Given the description of an element on the screen output the (x, y) to click on. 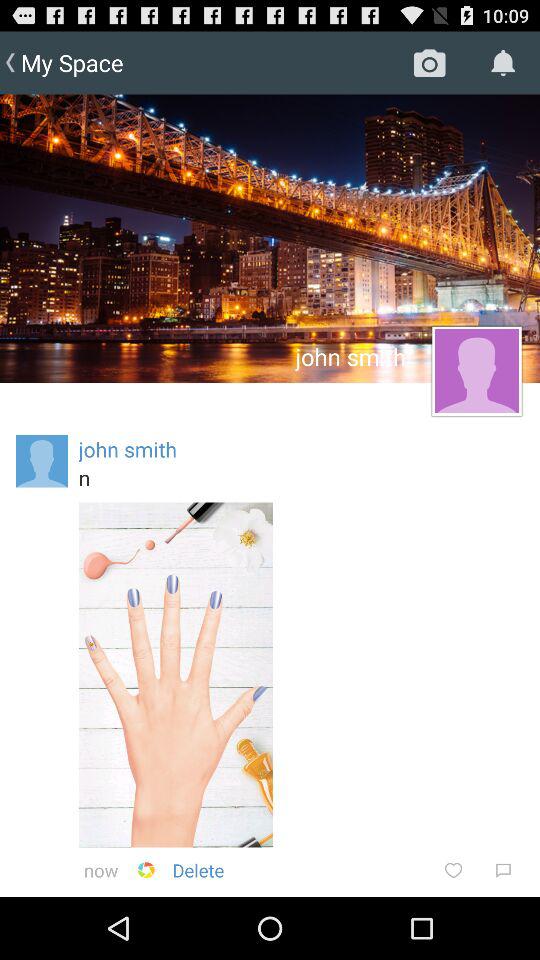
launch the item to the left of delete app (146, 870)
